Given the description of an element on the screen output the (x, y) to click on. 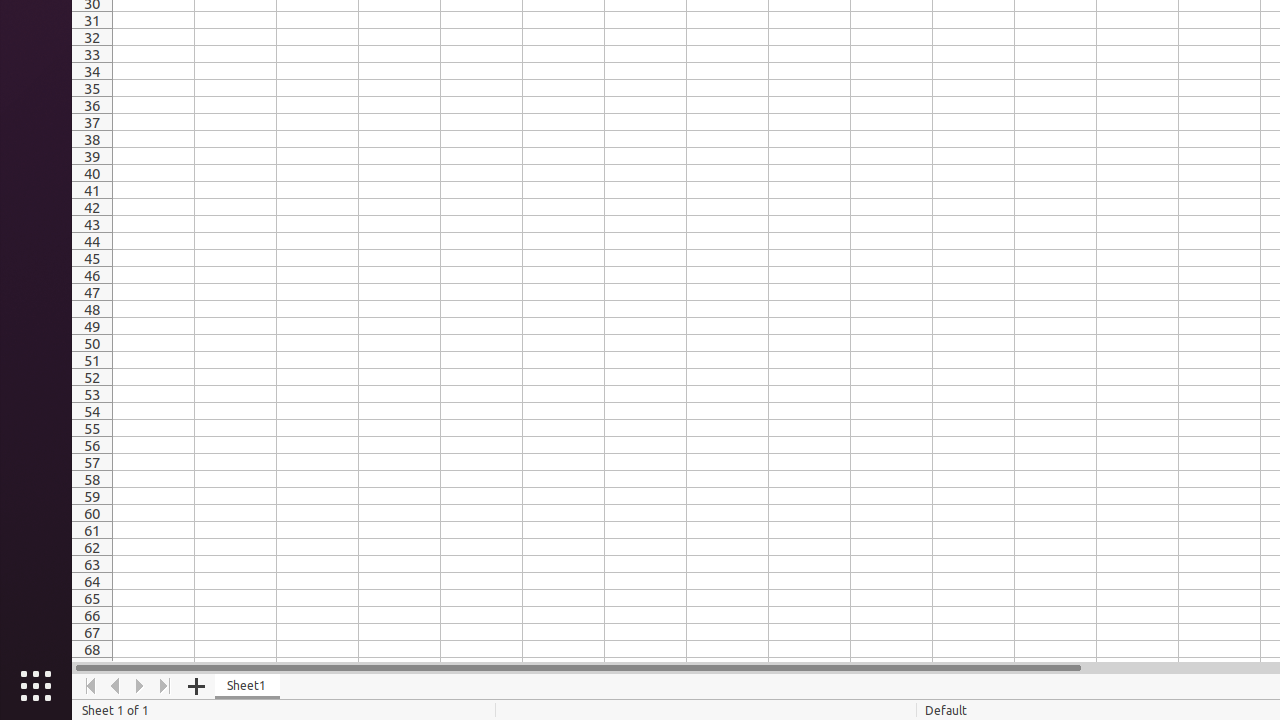
Move To Home Element type: push-button (90, 686)
Move To End Element type: push-button (165, 686)
Move Left Element type: push-button (115, 686)
Sheet1 Element type: page-tab (247, 686)
Move Right Element type: push-button (140, 686)
